Given the description of an element on the screen output the (x, y) to click on. 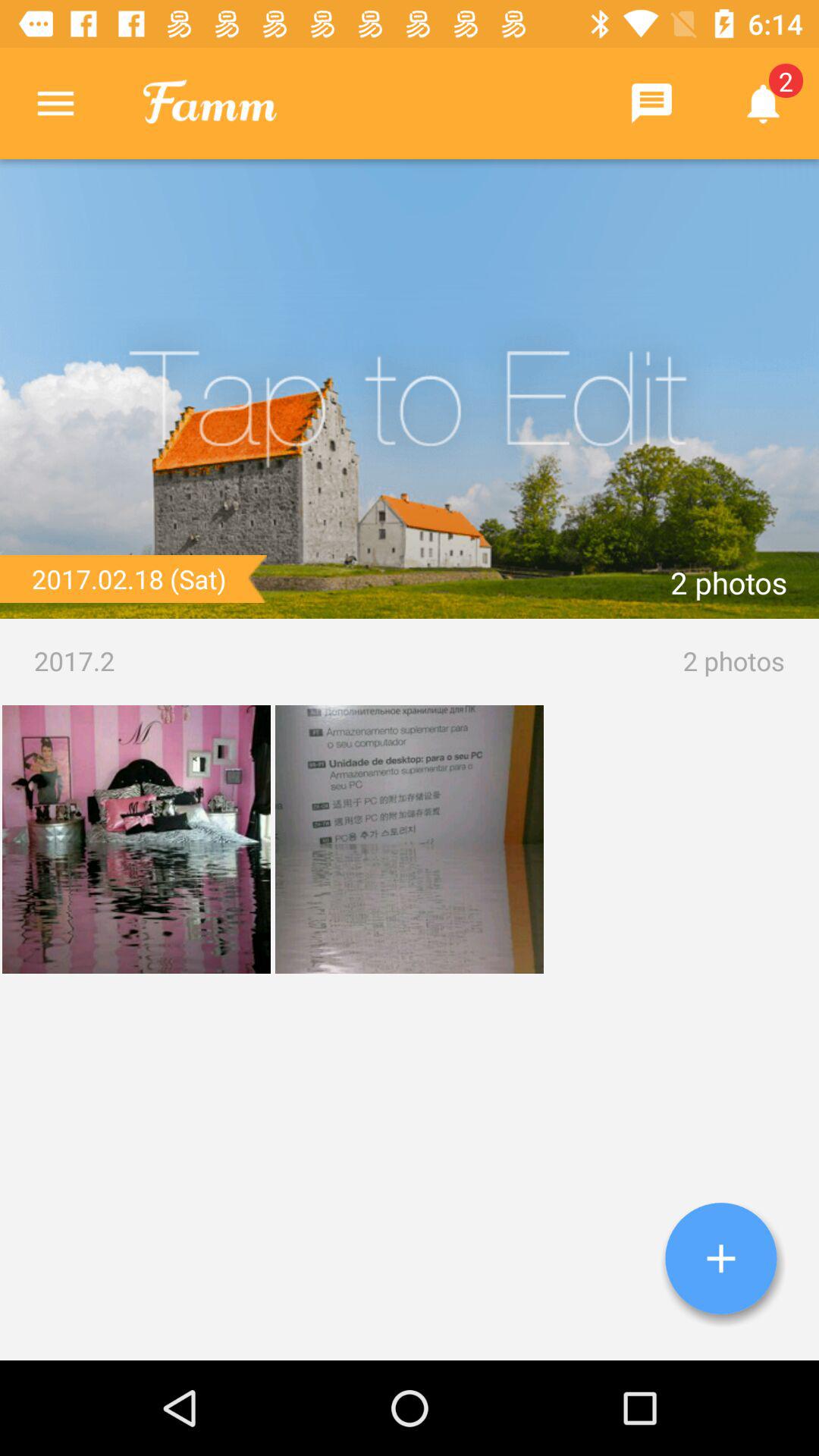
creat add (721, 1258)
